Given the description of an element on the screen output the (x, y) to click on. 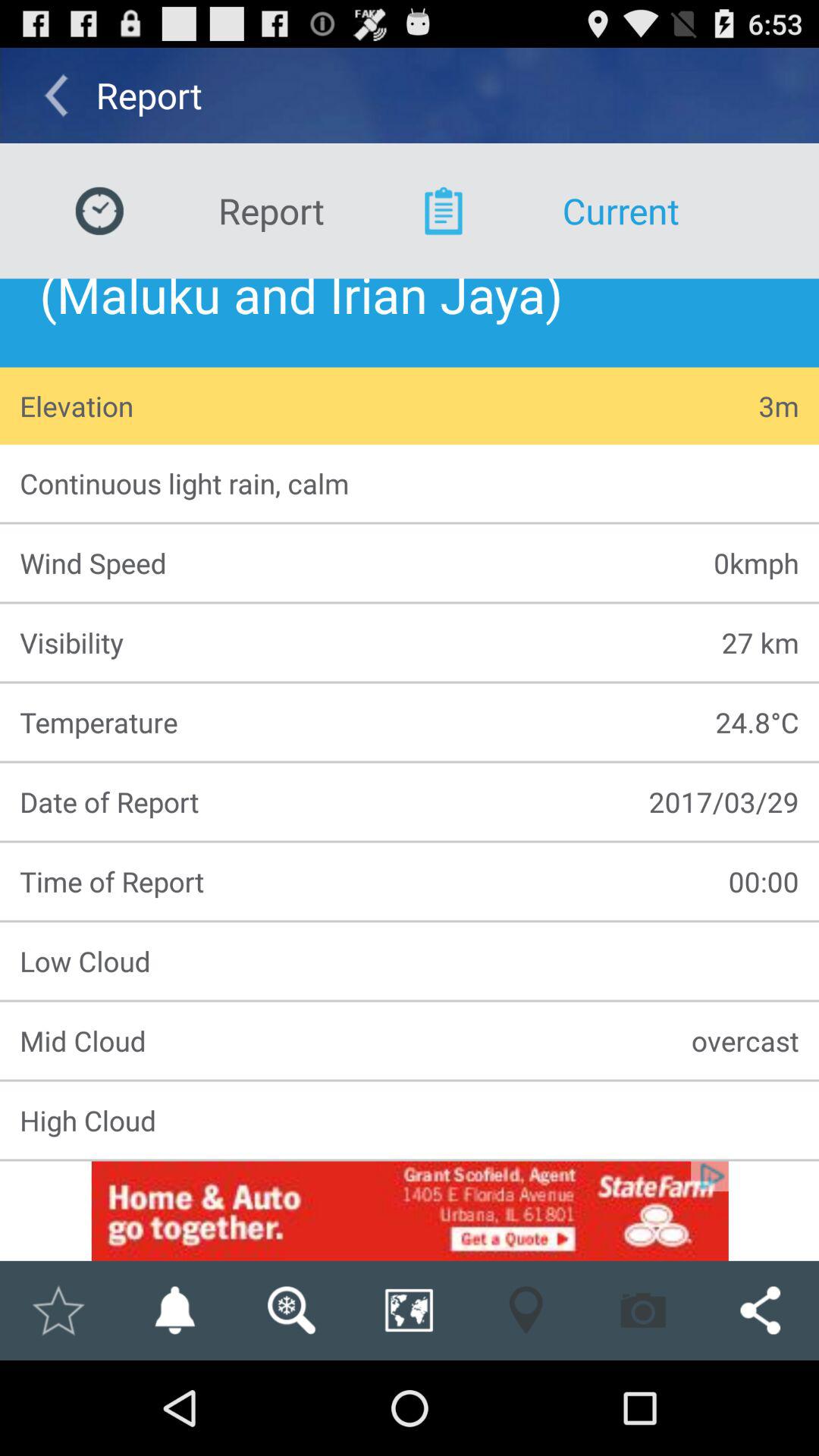
star button (58, 1310)
